Given the description of an element on the screen output the (x, y) to click on. 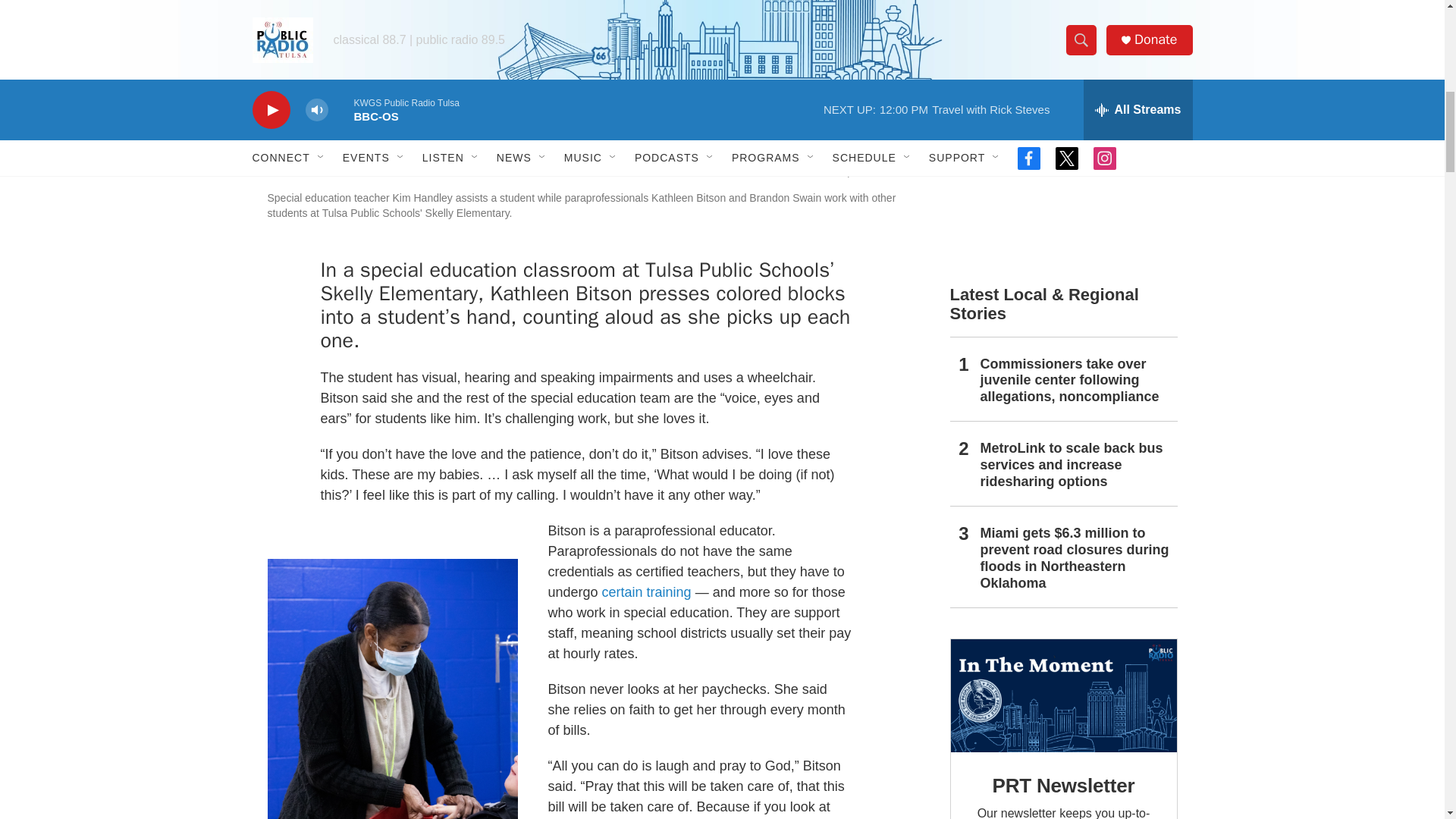
3rd party ad content (1062, 158)
3rd party ad content (1062, 16)
